Given the description of an element on the screen output the (x, y) to click on. 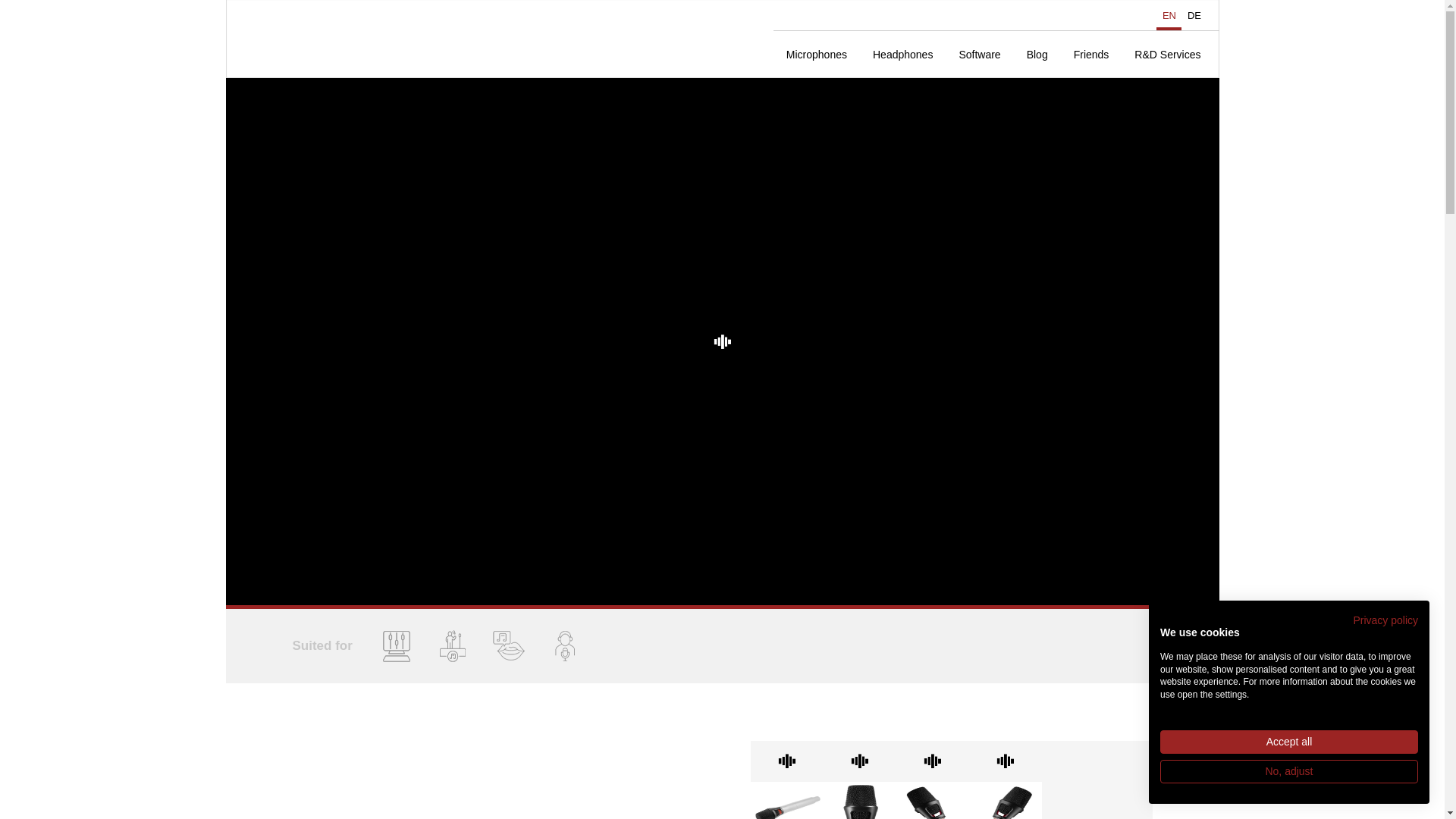
Headphones (902, 54)
Software (978, 54)
Blog (1037, 54)
Friends (1091, 54)
Microphones (816, 54)
